Given the description of an element on the screen output the (x, y) to click on. 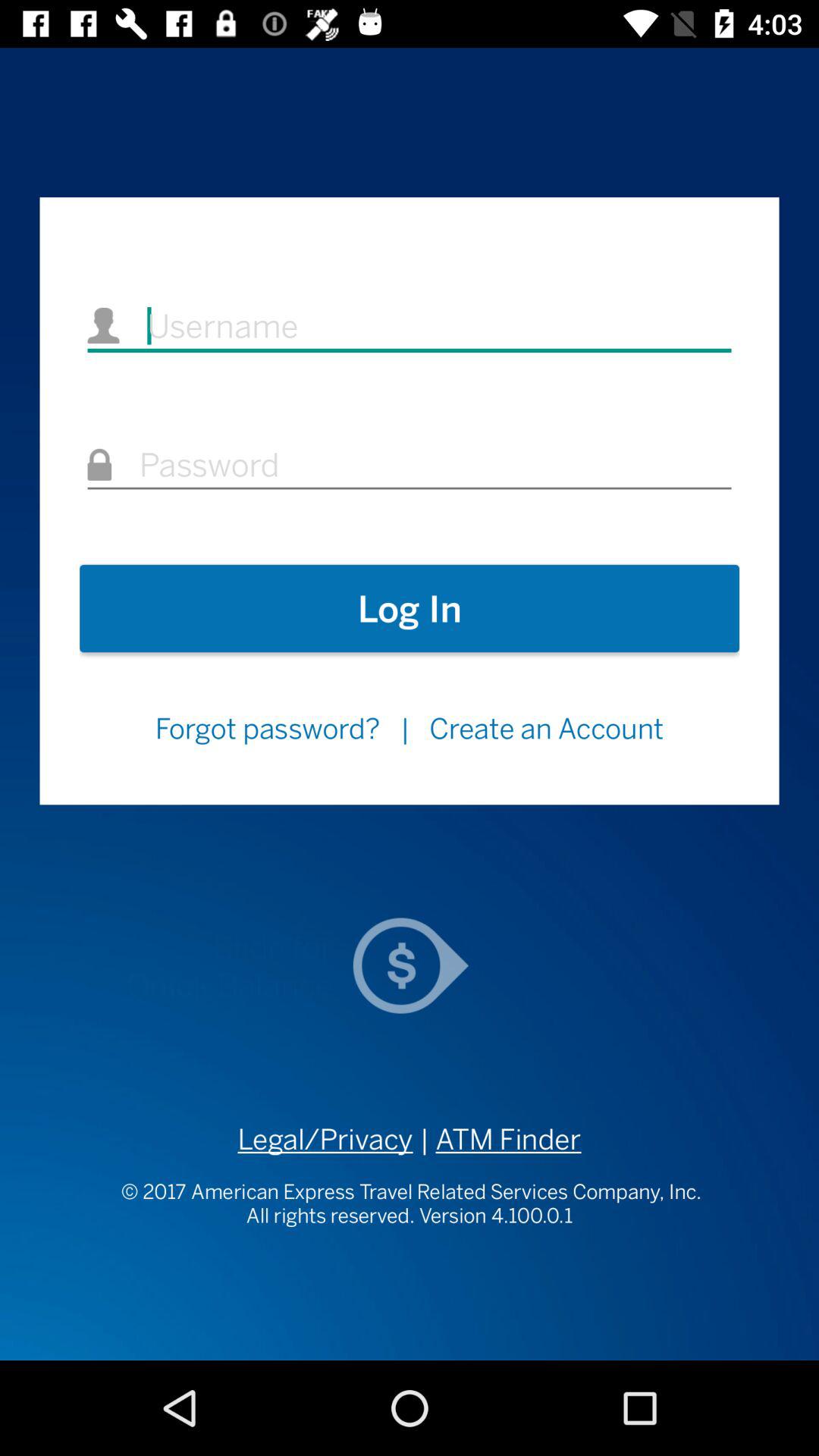
select the item to the left of the  | atm finder item (325, 1138)
